Given the description of an element on the screen output the (x, y) to click on. 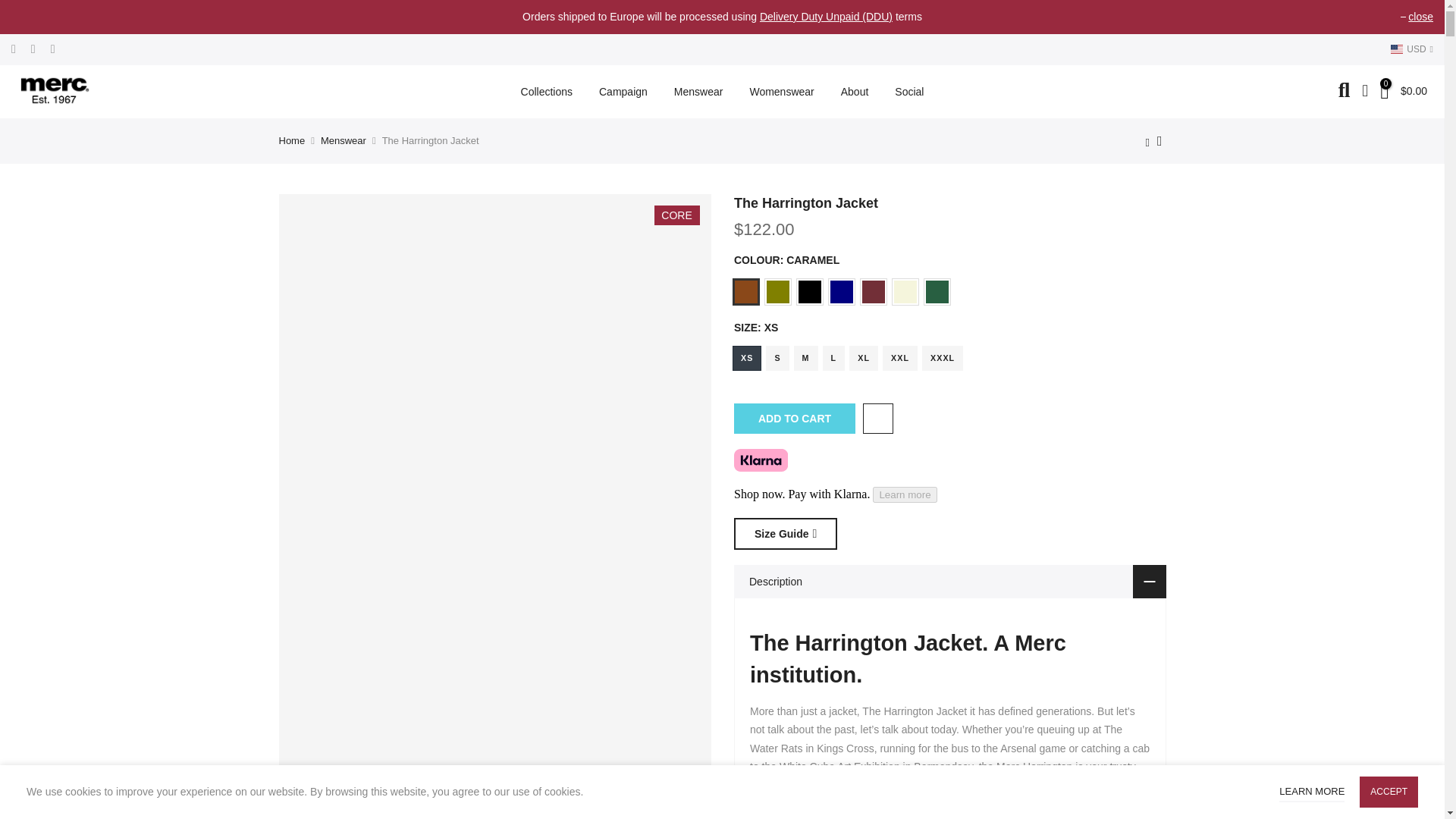
Social (909, 91)
Collections (545, 91)
close (1416, 16)
Campaign (623, 91)
About (854, 91)
Womenswear (781, 91)
Menswear (698, 91)
